Given the description of an element on the screen output the (x, y) to click on. 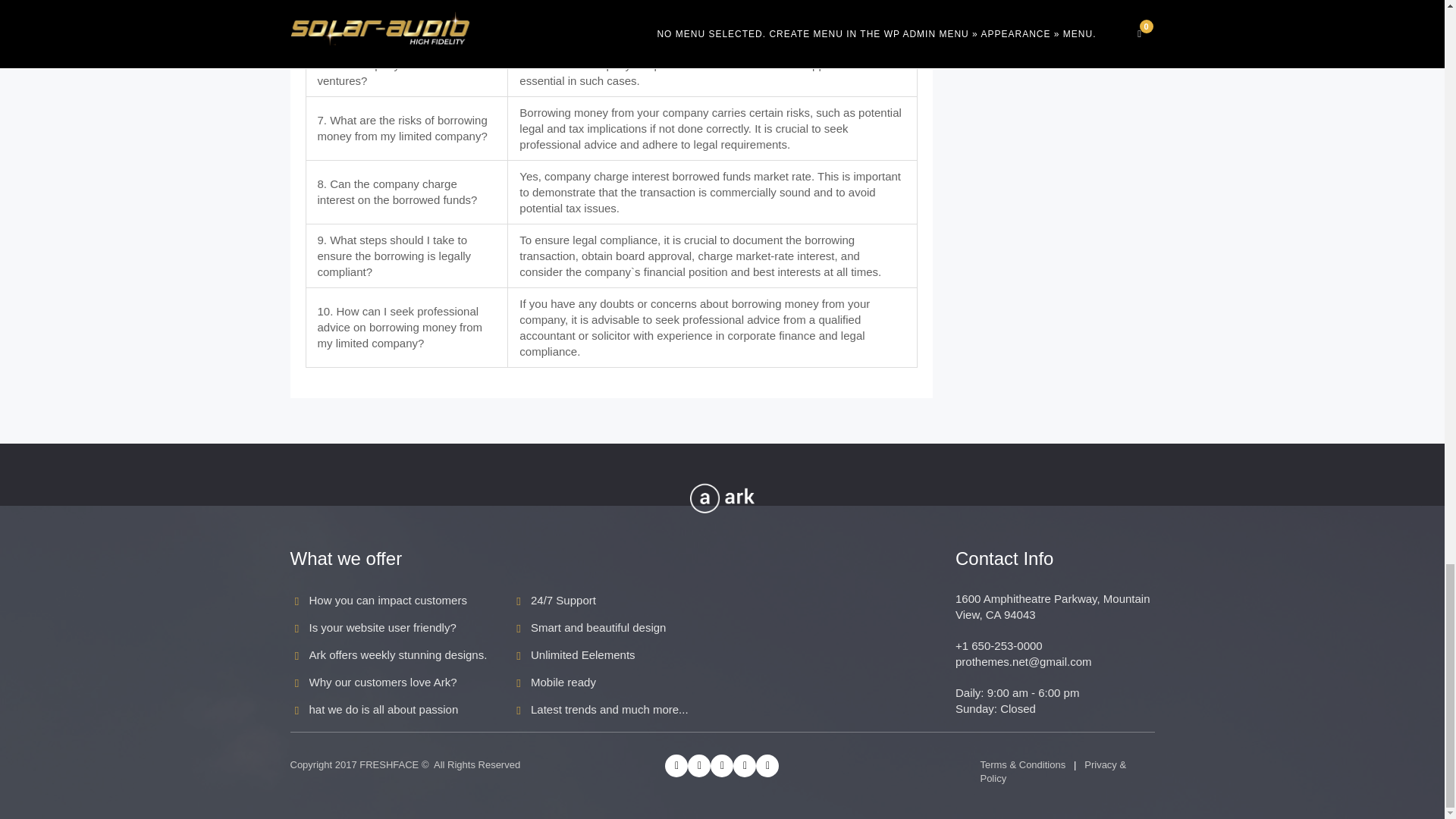
Mobile ready (563, 681)
Unlimited Eelements (582, 654)
Is your website user friendly? (382, 626)
Why our customers love Ark? (382, 681)
Ark offers weekly stunning designs. (397, 654)
hat we do is all about passion (383, 708)
How you can impact customers (387, 599)
FRESHFACE (389, 764)
Smart and beautiful design (598, 626)
Latest trends and much more... (609, 708)
